Given the description of an element on the screen output the (x, y) to click on. 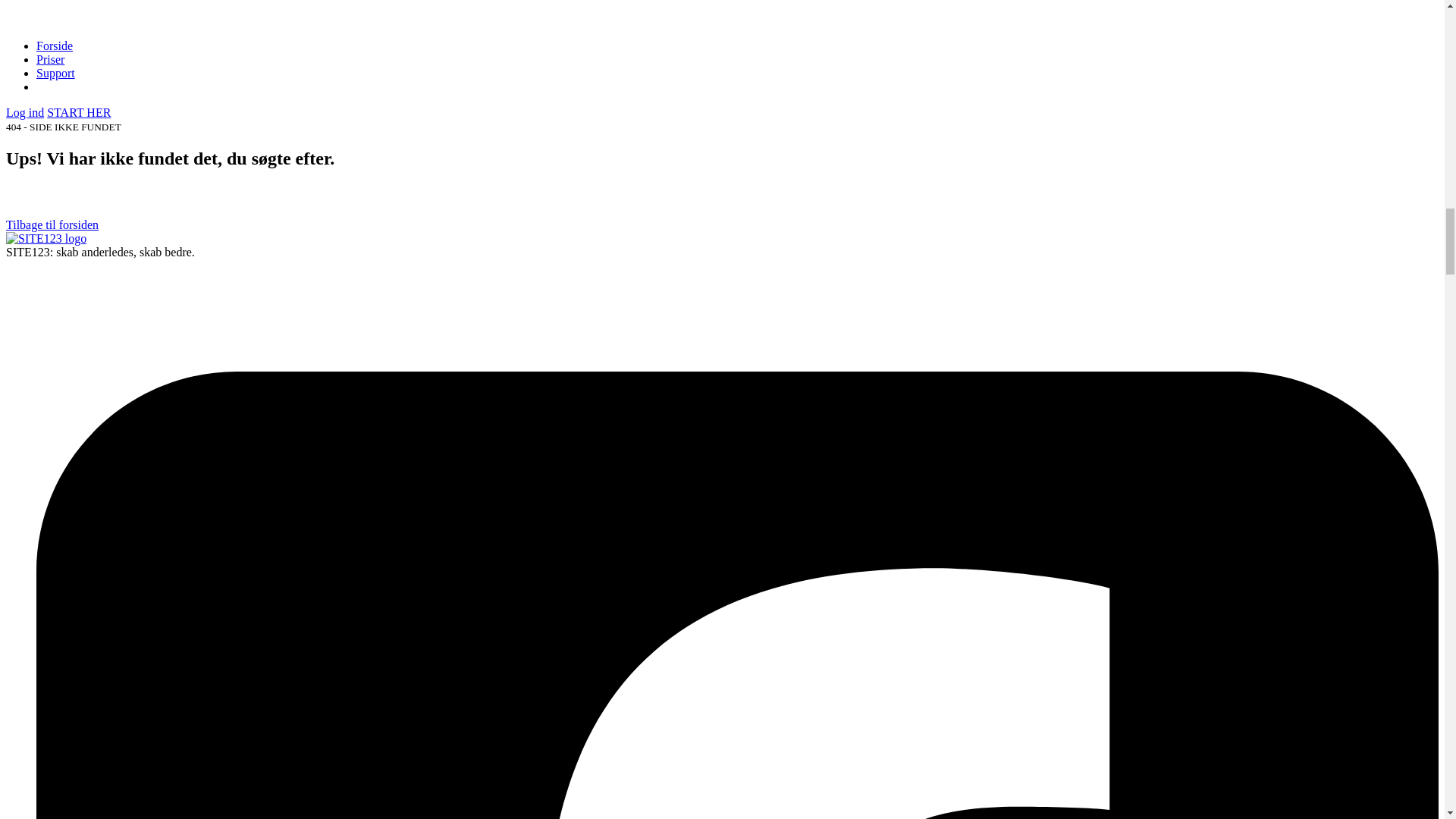
Support (55, 72)
Priser (50, 59)
Forside (54, 45)
START HER (78, 112)
Log ind (24, 112)
Tilbage til forsiden (52, 224)
